Given the description of an element on the screen output the (x, y) to click on. 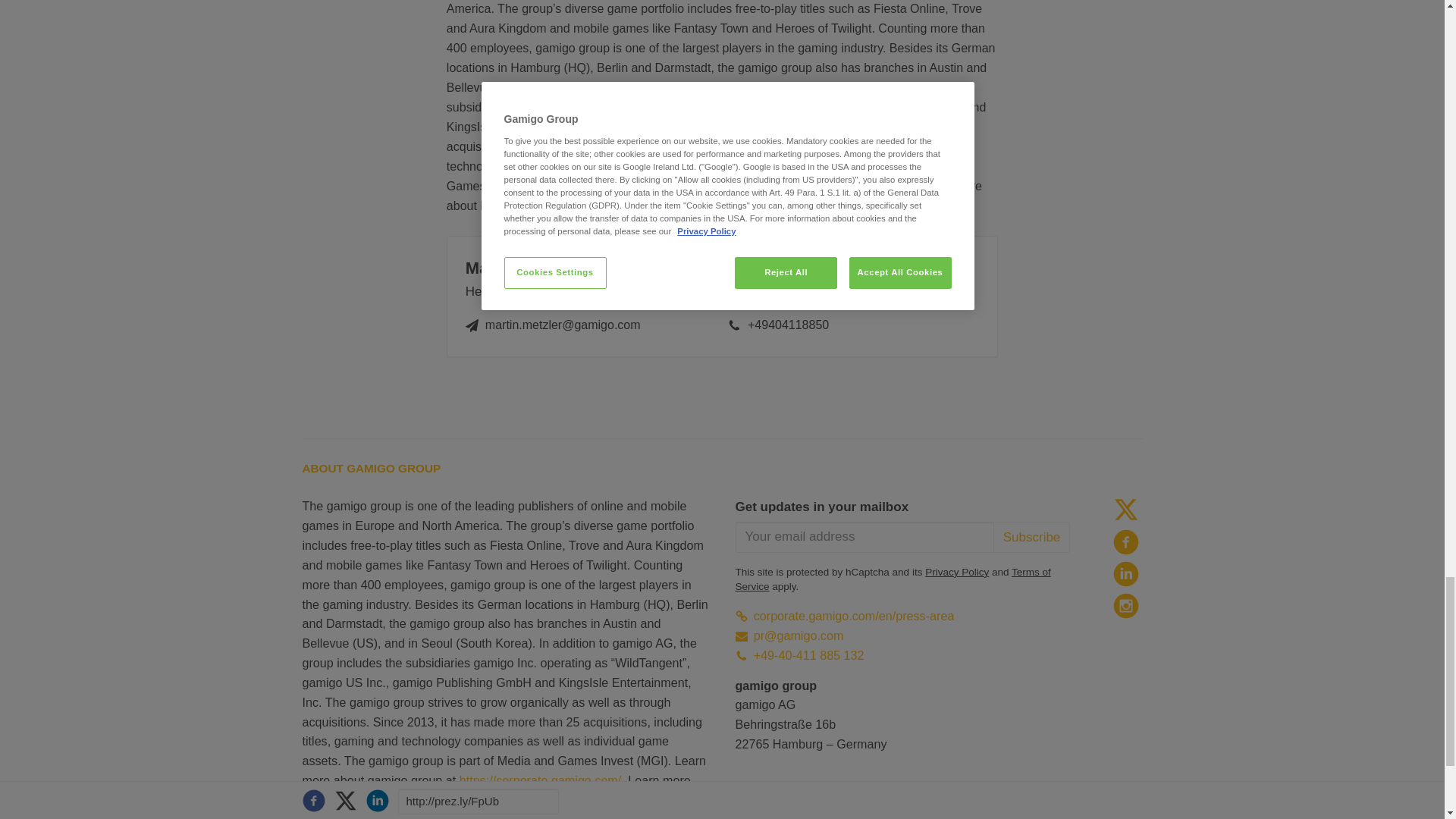
gamigo group Facebook (1125, 542)
Terms of Service (893, 579)
Privacy Policy (956, 572)
gamigo group Instagram (1125, 605)
Subscribe (1031, 536)
gamigo group Twitter (1125, 509)
gamigo group Linkedin (1125, 574)
